Given the description of an element on the screen output the (x, y) to click on. 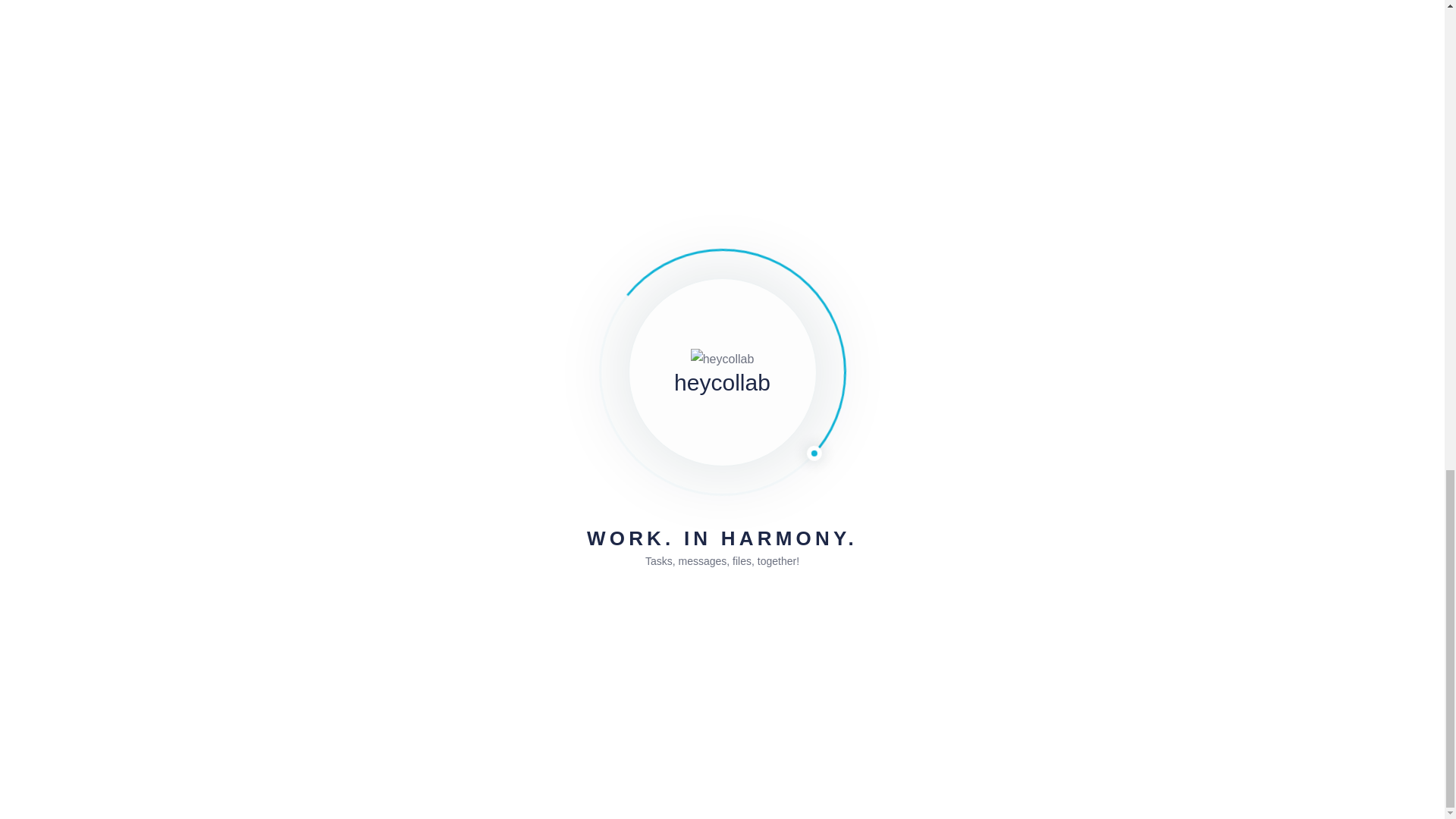
No votes yet (993, 668)
No votes yet (949, 668)
